Given the description of an element on the screen output the (x, y) to click on. 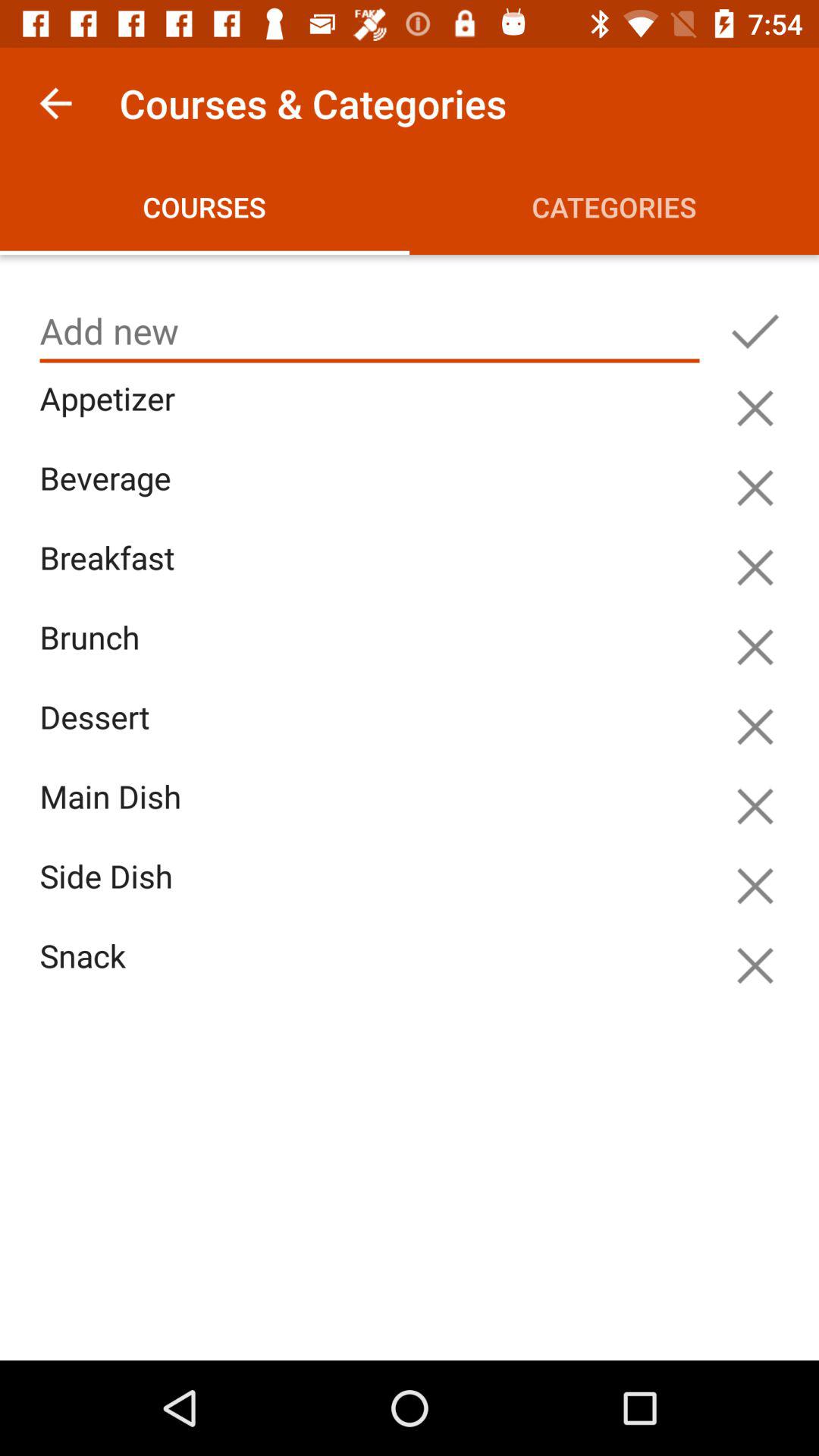
turn on the appetizer (373, 416)
